Given the description of an element on the screen output the (x, y) to click on. 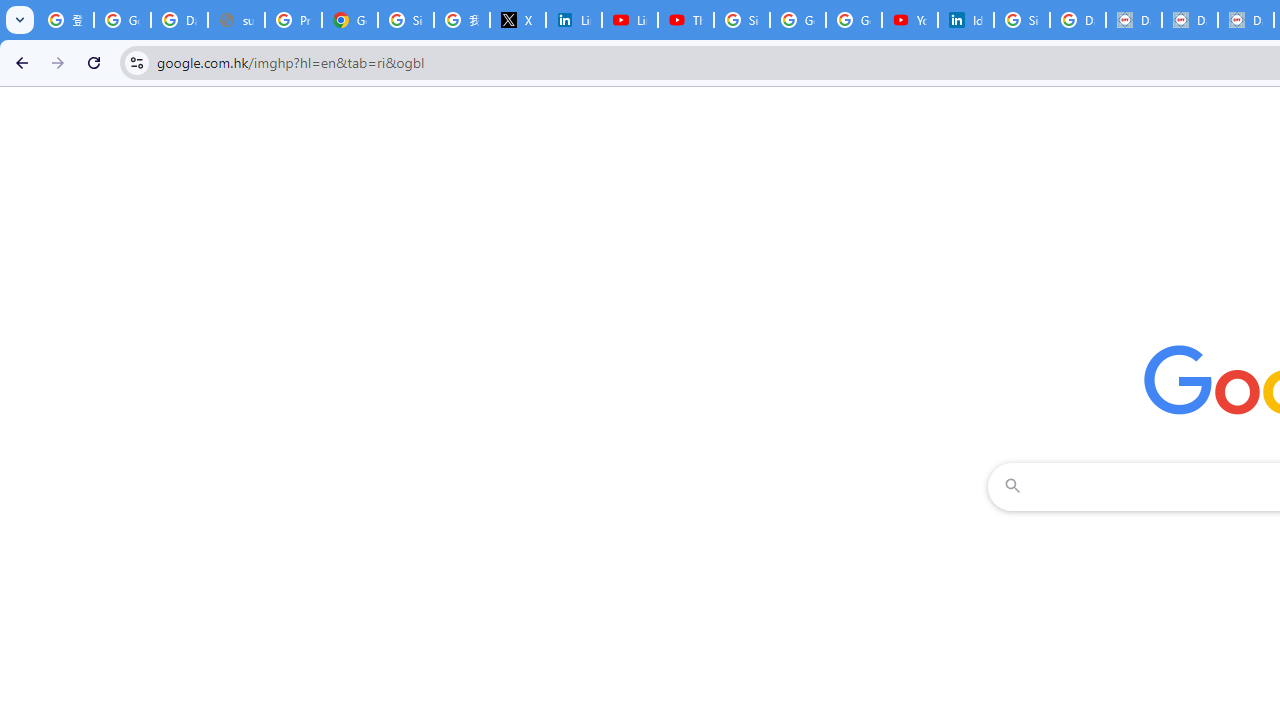
LinkedIn - YouTube (629, 20)
Sign in - Google Accounts (1021, 20)
support.google.com - Network error (235, 20)
Sign in - Google Accounts (405, 20)
X (518, 20)
